Given the description of an element on the screen output the (x, y) to click on. 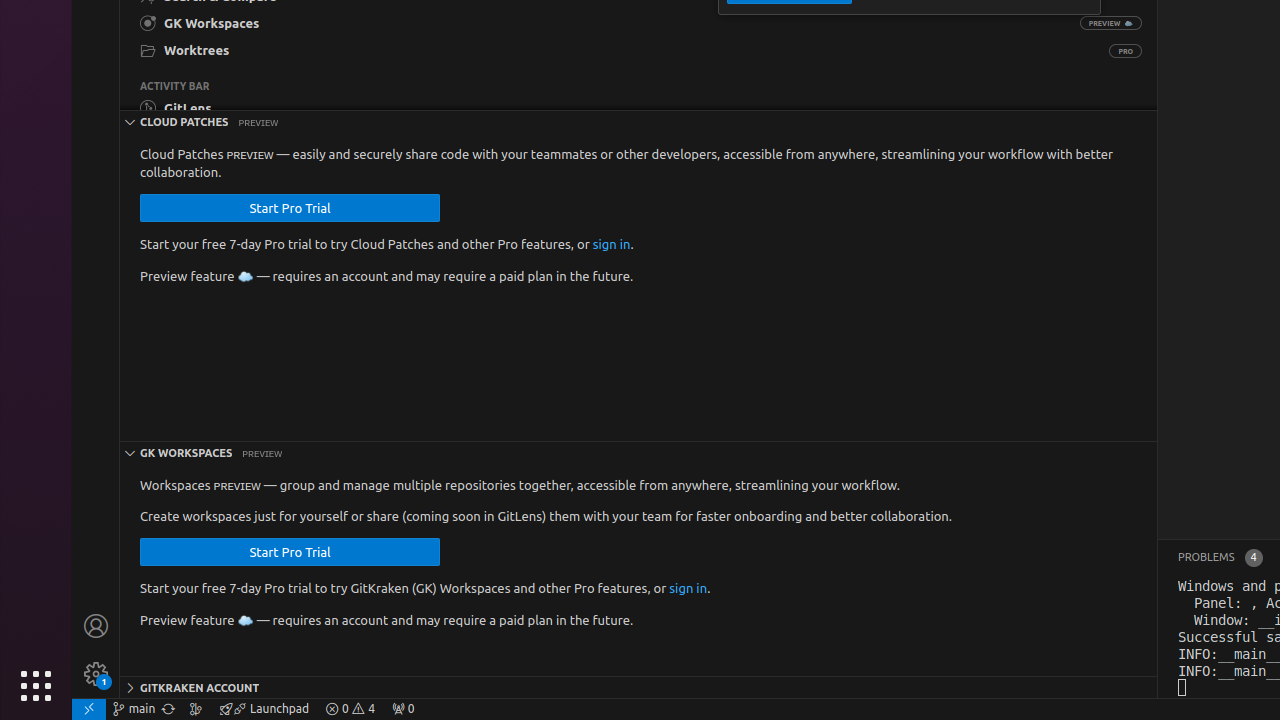
Accounts Element type: push-button (96, 626)
remote Element type: push-button (89, 709)
Show Worktrees view Element type: link (613, 50)
Show GitKraken Workspaces view Element type: link (598, 23)
